Given the description of an element on the screen output the (x, y) to click on. 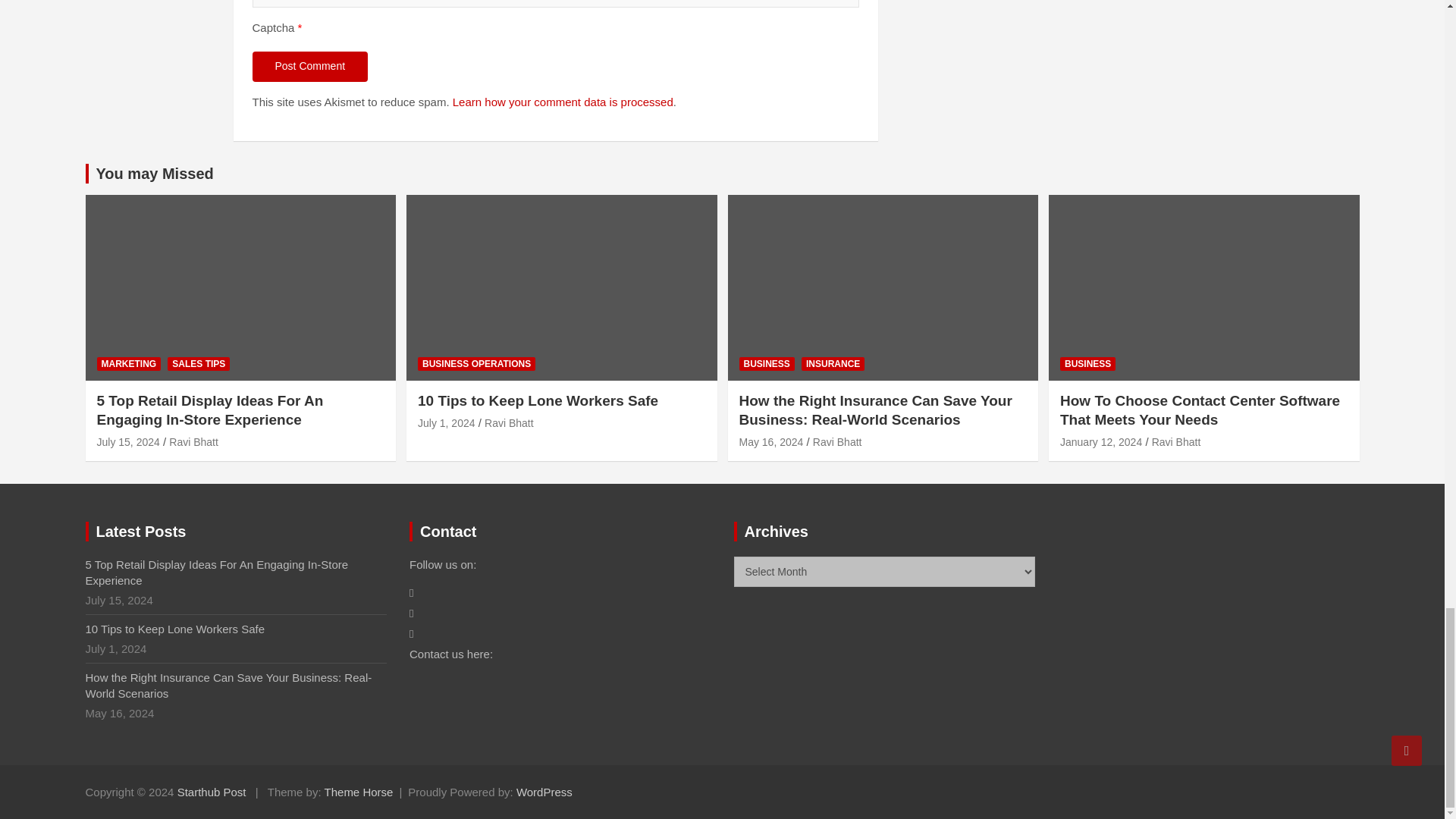
How To Choose Contact Center Software That Meets Your Needs (1100, 441)
Post Comment (309, 66)
10 Tips to Keep Lone Workers Safe (446, 422)
Theme Horse (358, 791)
Starthub Post (211, 791)
WordPress (544, 791)
